Given the description of an element on the screen output the (x, y) to click on. 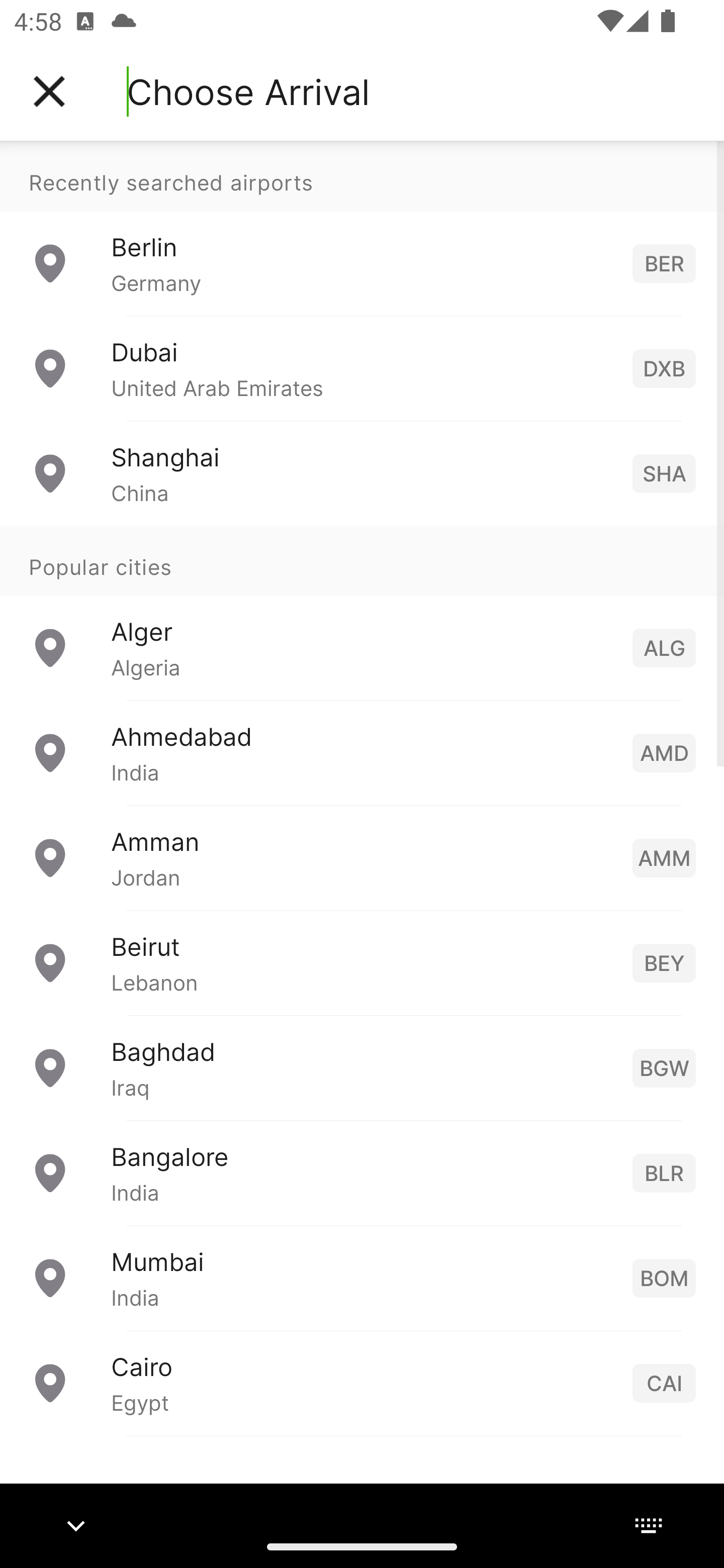
Choose Arrival (247, 91)
Recently searched airports Berlin Germany BER (362, 228)
Recently searched airports (362, 176)
Dubai United Arab Emirates DXB (362, 367)
Shanghai China SHA (362, 472)
Popular cities Alger Algeria ALG (362, 612)
Popular cities (362, 560)
Ahmedabad India AMD (362, 751)
Amman Jordan AMM (362, 856)
Beirut Lebanon BEY (362, 961)
Baghdad Iraq BGW (362, 1066)
Bangalore India BLR (362, 1171)
Mumbai India BOM (362, 1276)
Cairo Egypt CAI (362, 1381)
